Given the description of an element on the screen output the (x, y) to click on. 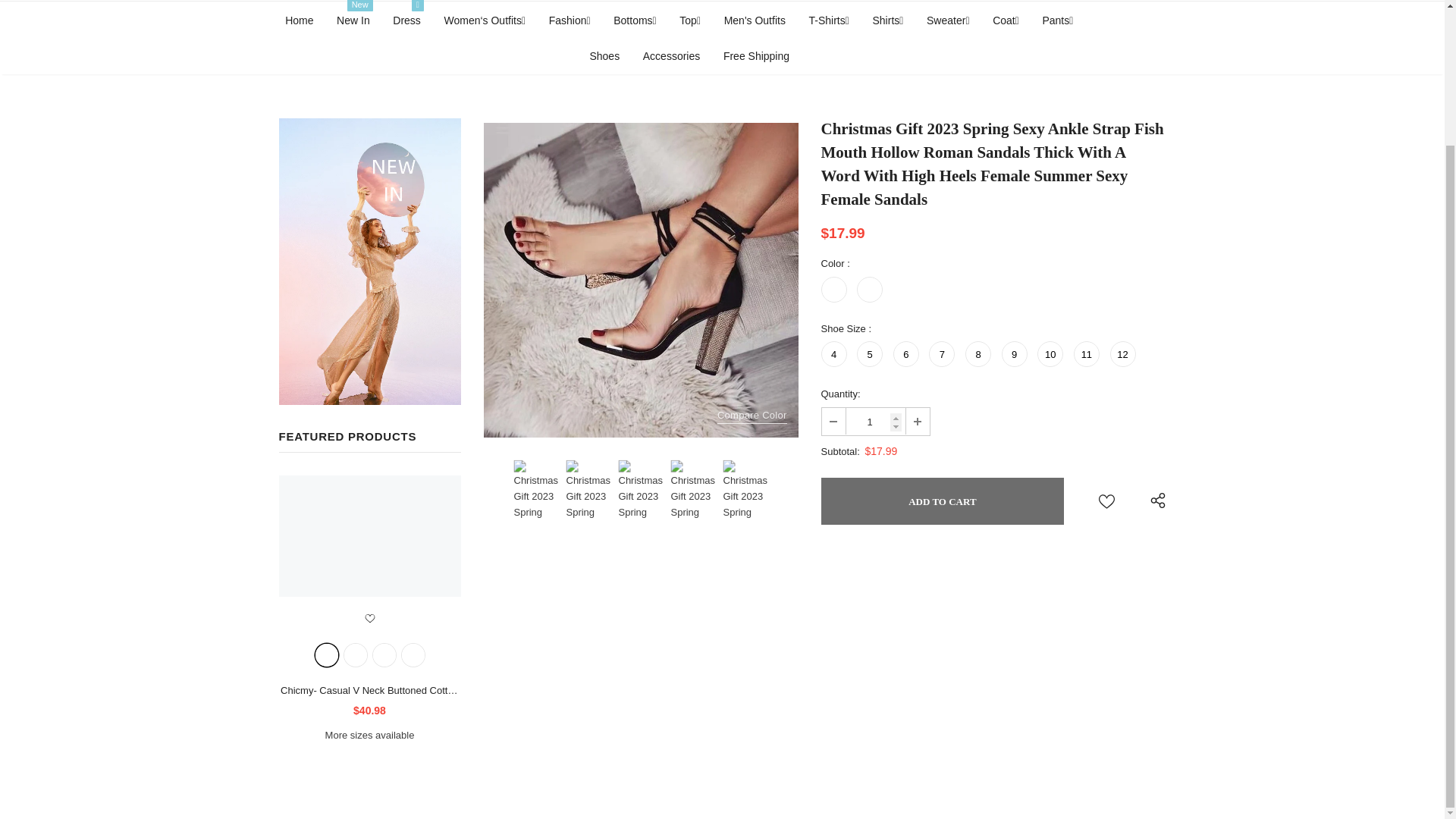
Free Shipping (756, 55)
Men'S Outfits (754, 19)
Accessories (671, 55)
Add to cart (942, 500)
1 (875, 420)
